Given the description of an element on the screen output the (x, y) to click on. 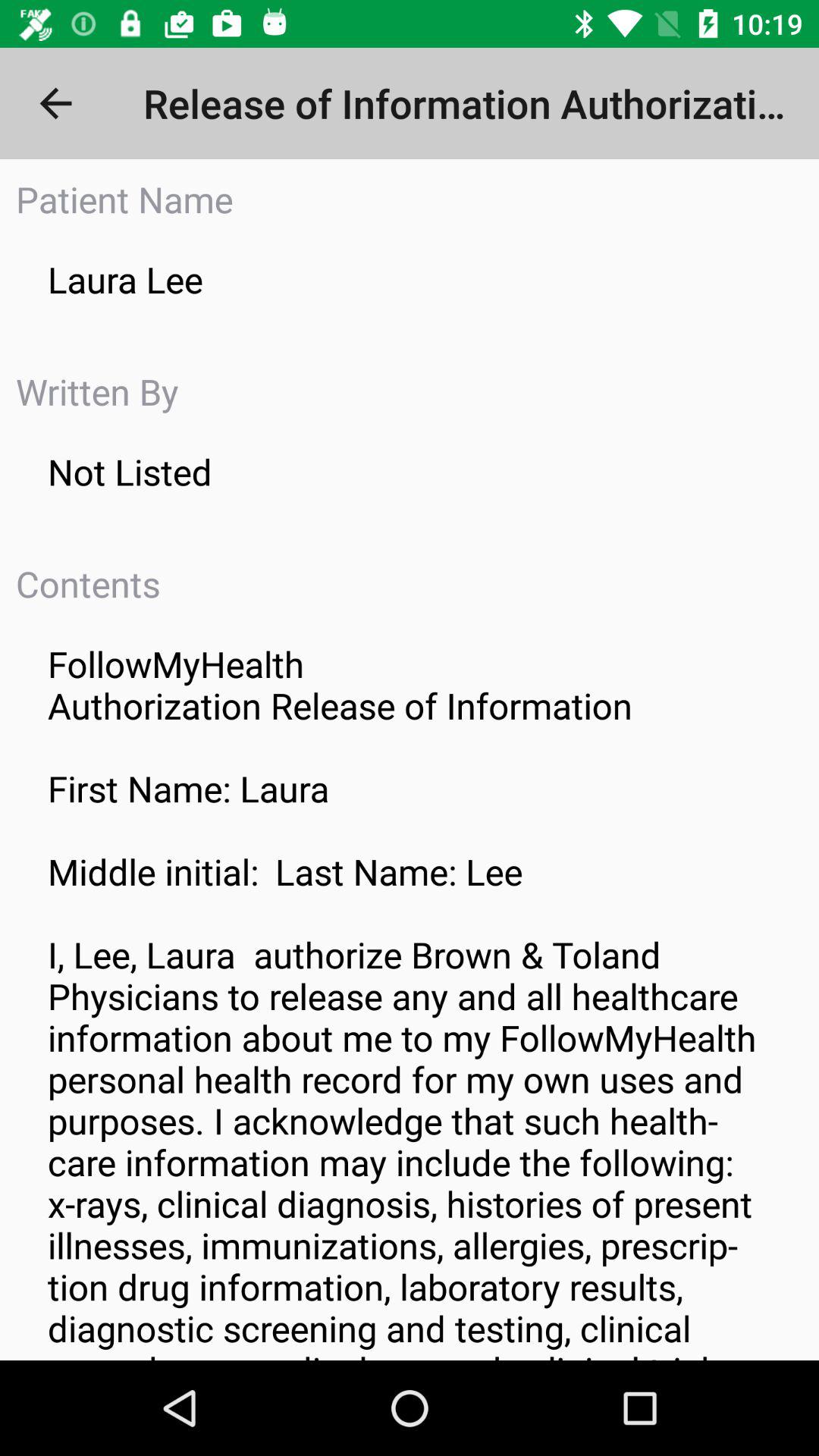
launch the item to the left of the release of information item (55, 103)
